Given the description of an element on the screen output the (x, y) to click on. 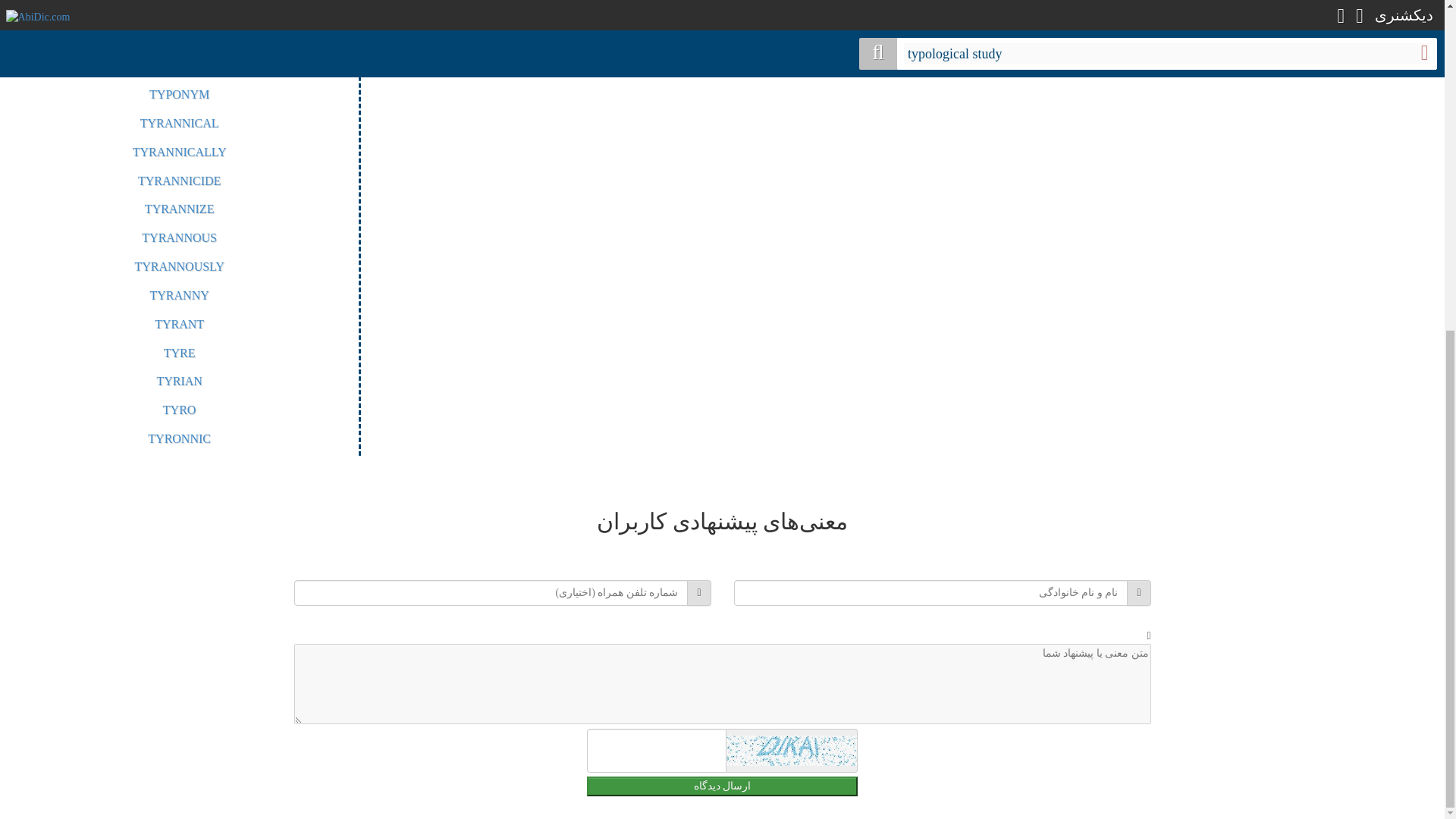
TYPONYM (179, 93)
TYPOGRAPHY (179, 6)
TYPOLOGY (179, 65)
TYRANNICIDE (179, 180)
TYRE (179, 352)
TYRANNY (179, 295)
TYRANT (178, 323)
TYRIAN (178, 380)
TYRANNIZE (179, 208)
TYRANNICAL (179, 123)
